Given the description of an element on the screen output the (x, y) to click on. 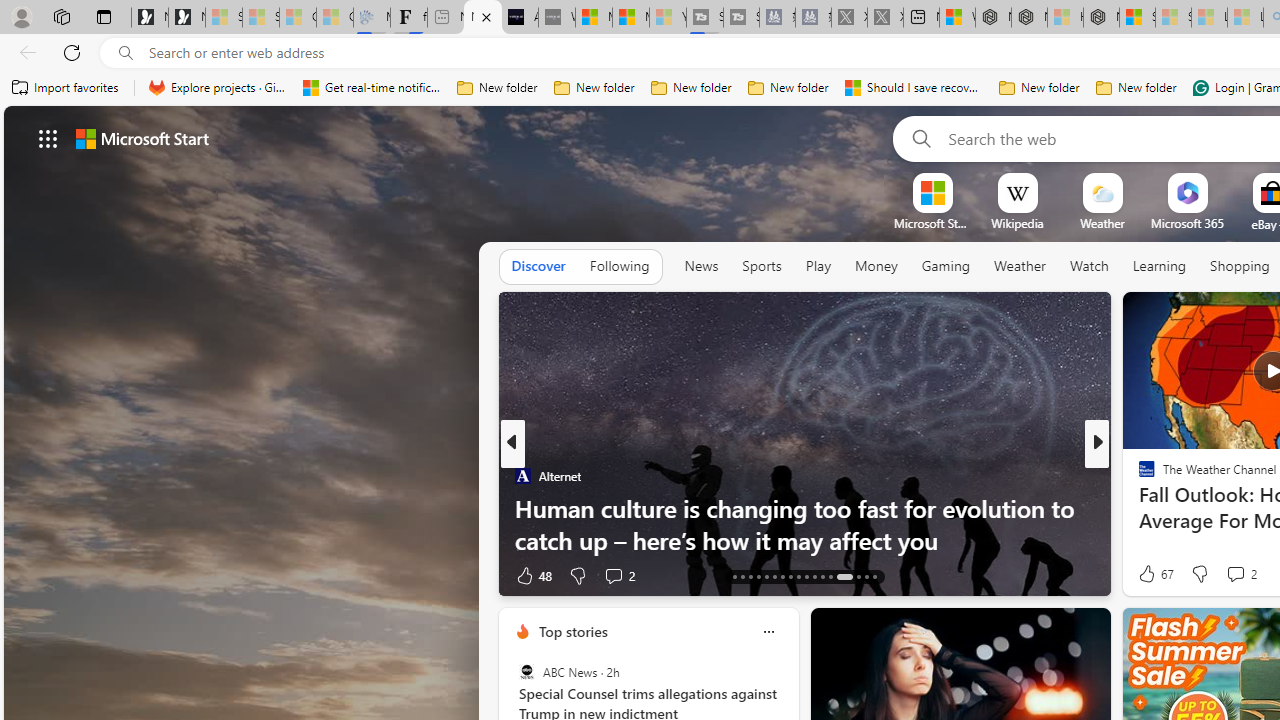
AutomationID: tab-28 (821, 576)
Back (24, 52)
Workspaces (61, 16)
AutomationID: tab-42 (865, 576)
Learning (1159, 265)
Weather (1019, 267)
What's the best AI voice generator? - voice.ai - Sleeping (556, 17)
View comments 3 Comment (11, 575)
Should I save recovered Word documents? - Microsoft Support (913, 88)
Dislike (1199, 574)
Microsoft Start Sports (593, 17)
